Given the description of an element on the screen output the (x, y) to click on. 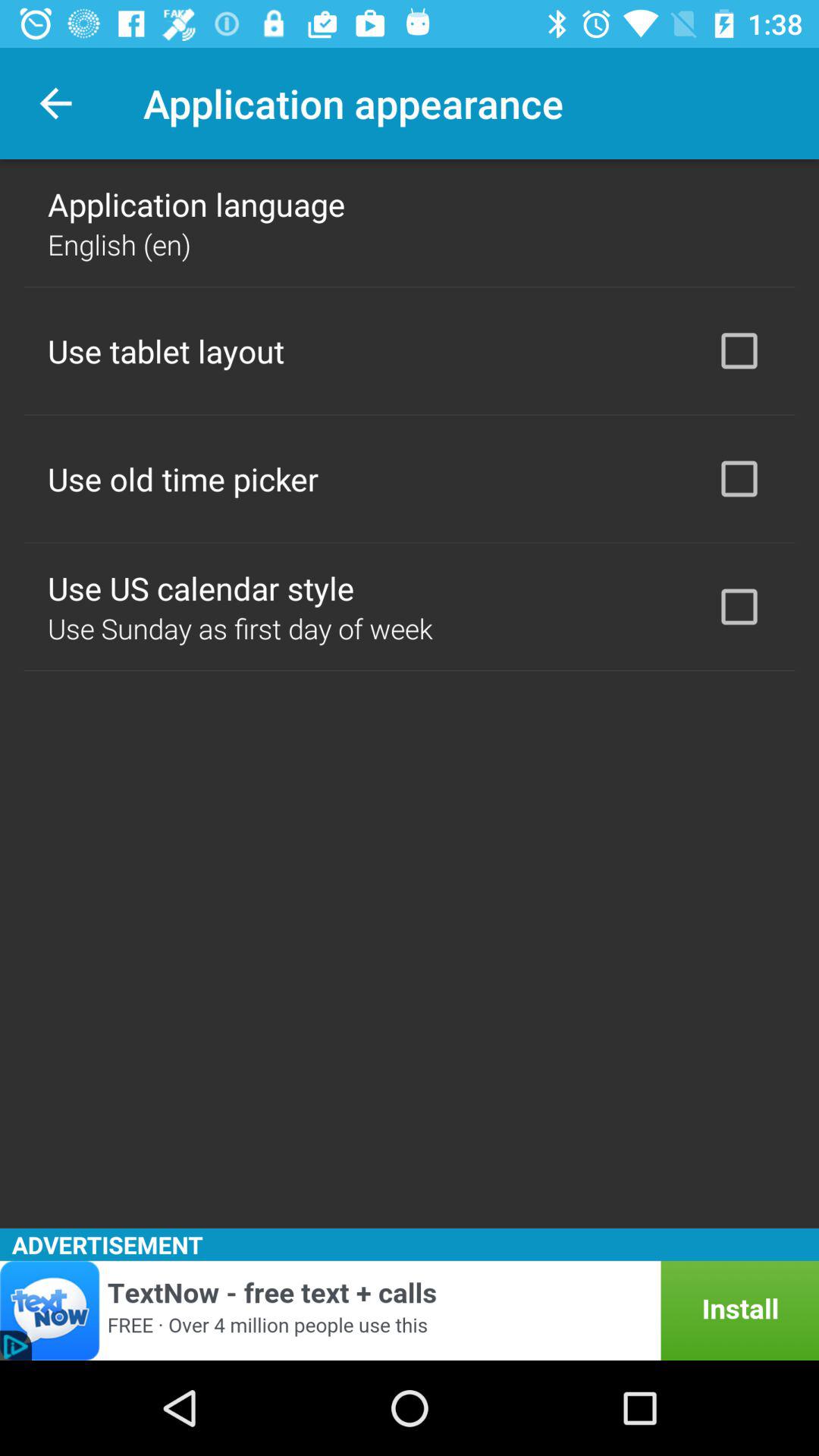
turn off icon next to the application appearance item (55, 103)
